Given the description of an element on the screen output the (x, y) to click on. 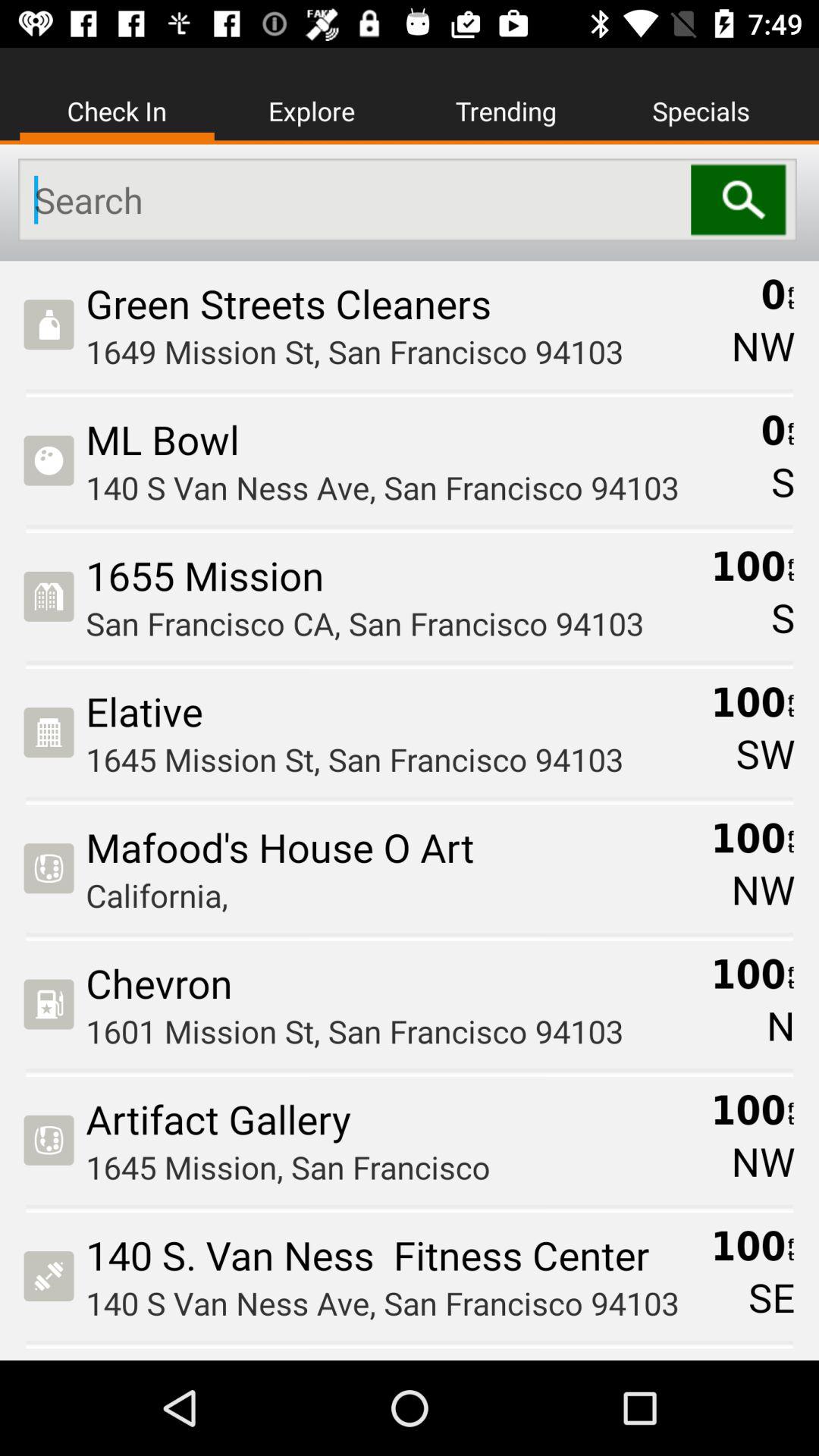
click the item above 1645 mission san icon (392, 1118)
